Given the description of an element on the screen output the (x, y) to click on. 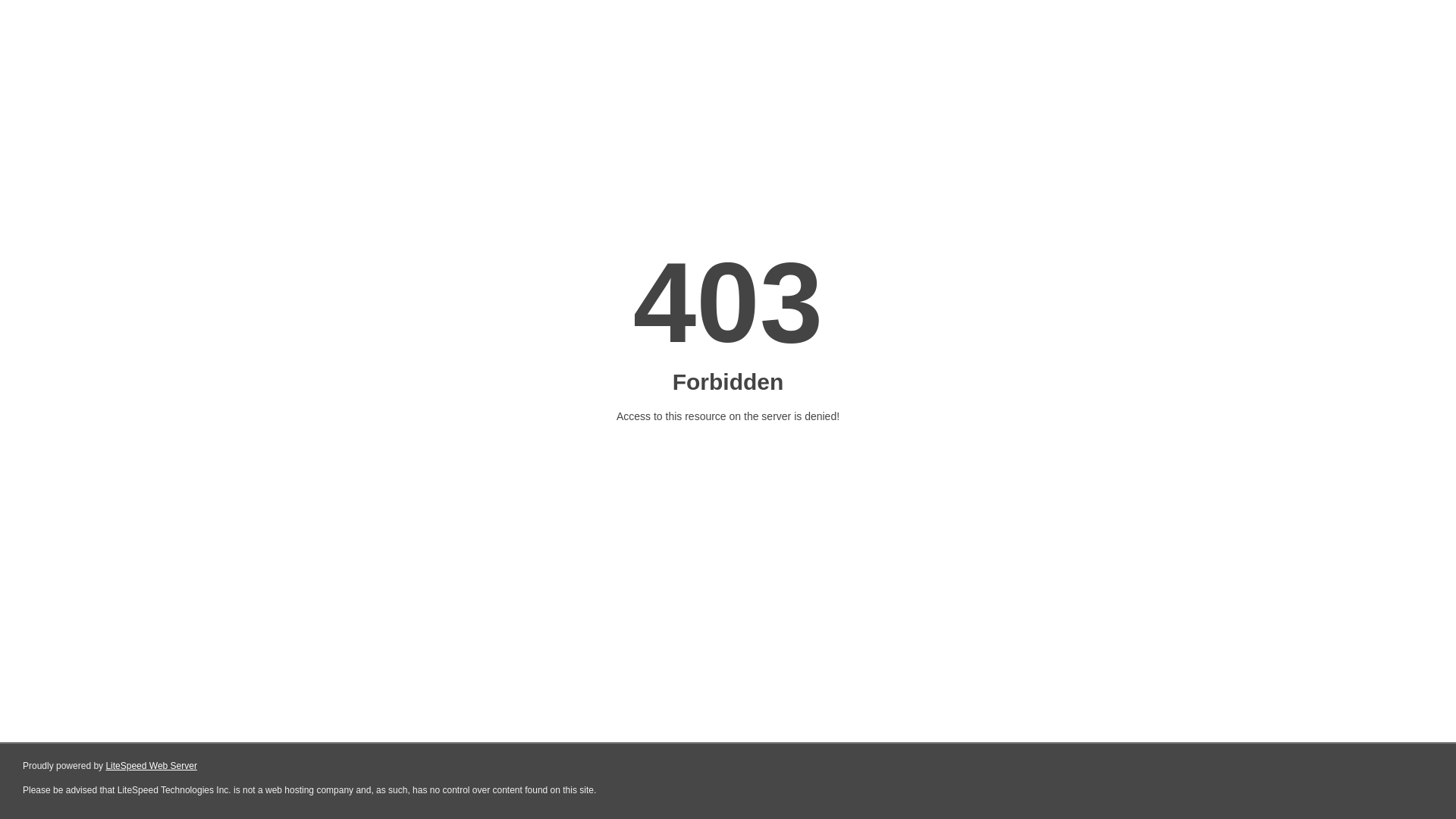
LiteSpeed Web Server (150, 765)
